Given the description of an element on the screen output the (x, y) to click on. 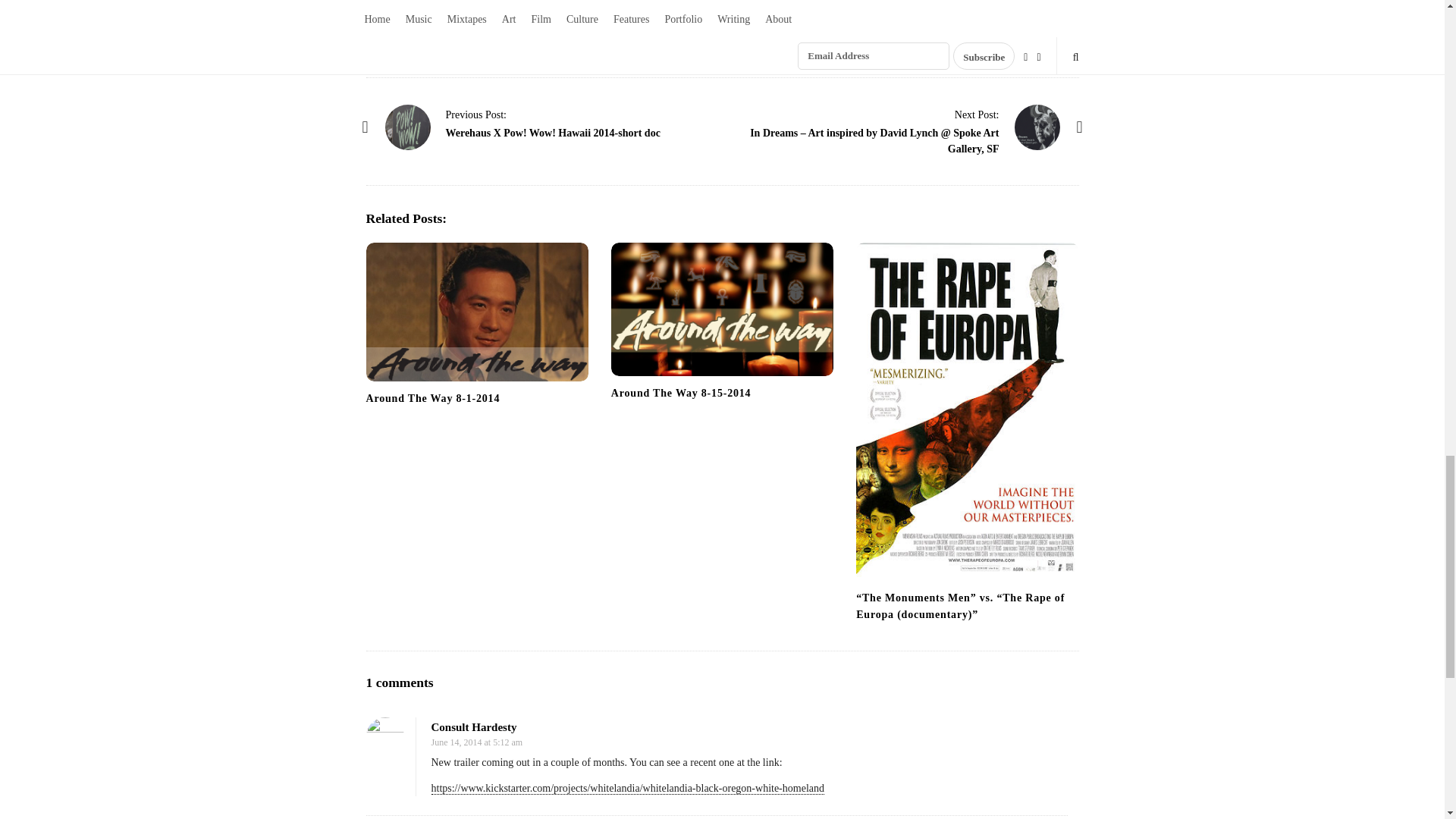
Werehaus X Pow! Wow! Hawaii 2014-short doc (475, 114)
Next Post: (976, 114)
Werehaus X Pow! Wow! Hawaii 2014-short doc (407, 126)
Around The Way 8-1-2014 (432, 398)
Around The Way 8-1-2014 (476, 311)
Around The Way 8-15-2014 (721, 308)
Around The Way 8-15-2014 (681, 392)
Werehaus X Pow! Wow! Hawaii 2014-short doc (553, 132)
Previous Post: (475, 114)
